Given the description of an element on the screen output the (x, y) to click on. 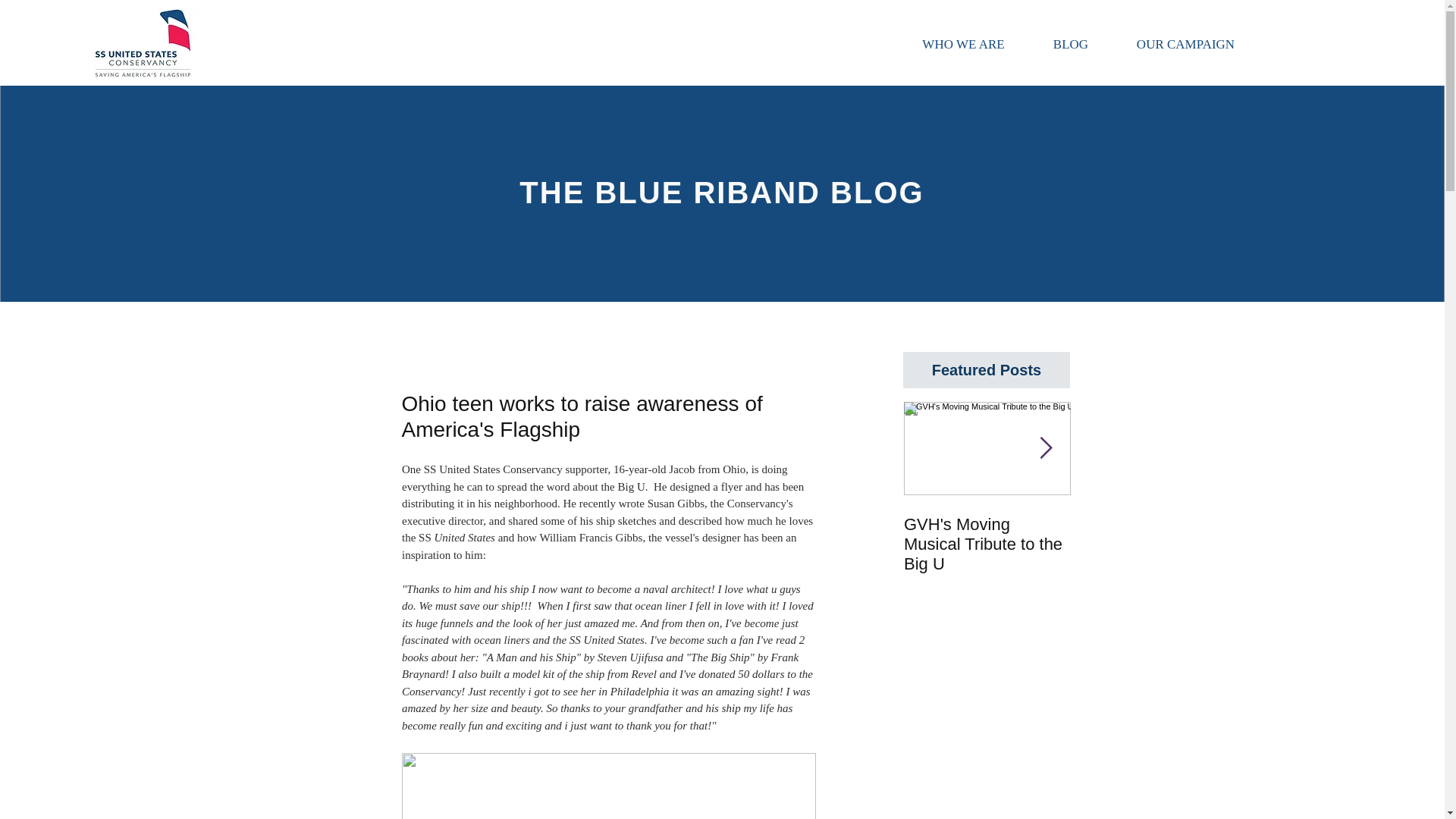
OUR CAMPAIGN (1185, 44)
GVH's Moving Musical Tribute to the Big U (987, 544)
BLOG (1070, 44)
WHO WE ARE (963, 44)
